Given the description of an element on the screen output the (x, y) to click on. 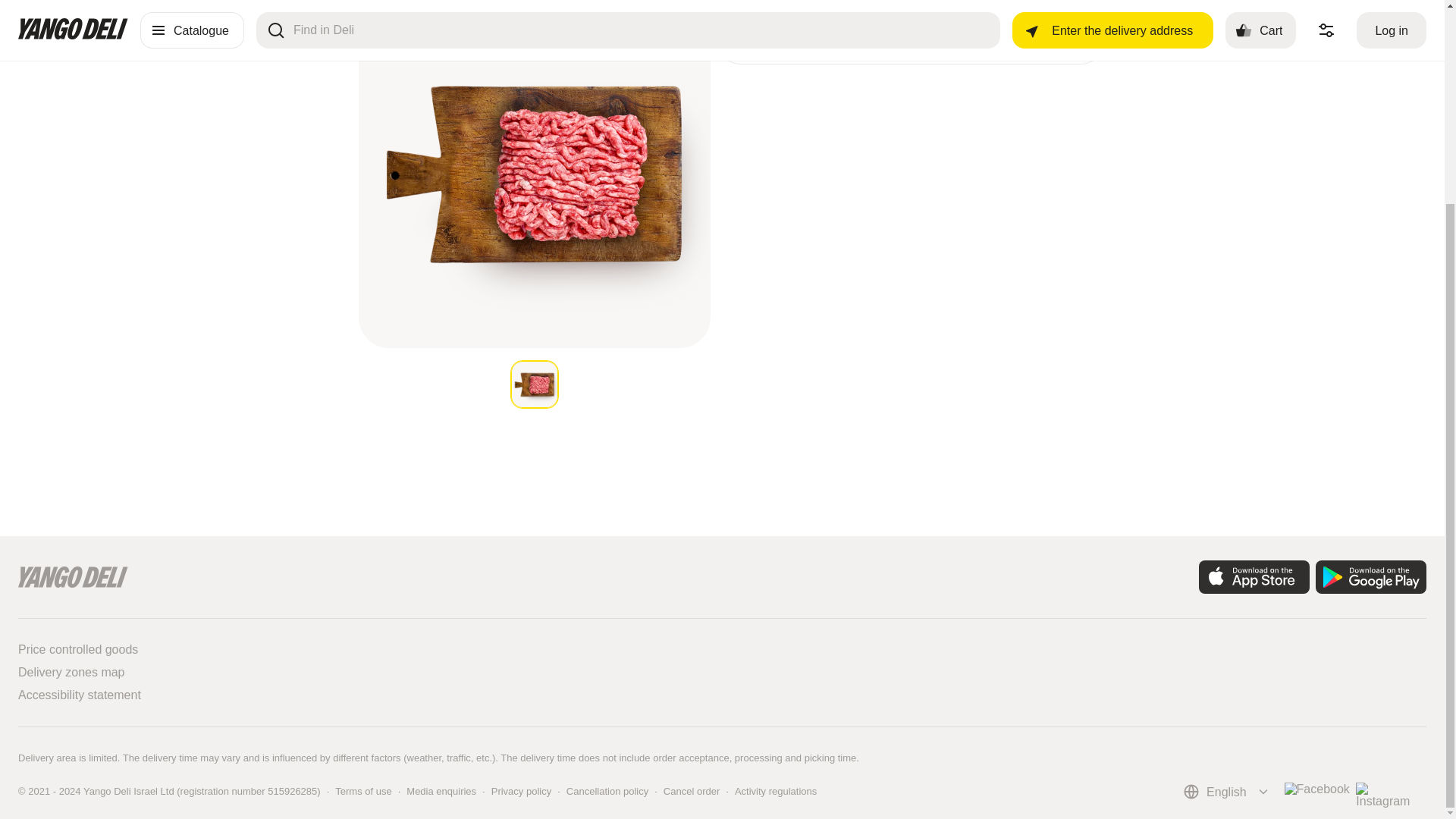
Not available in your location (521, 790)
